Given the description of an element on the screen output the (x, y) to click on. 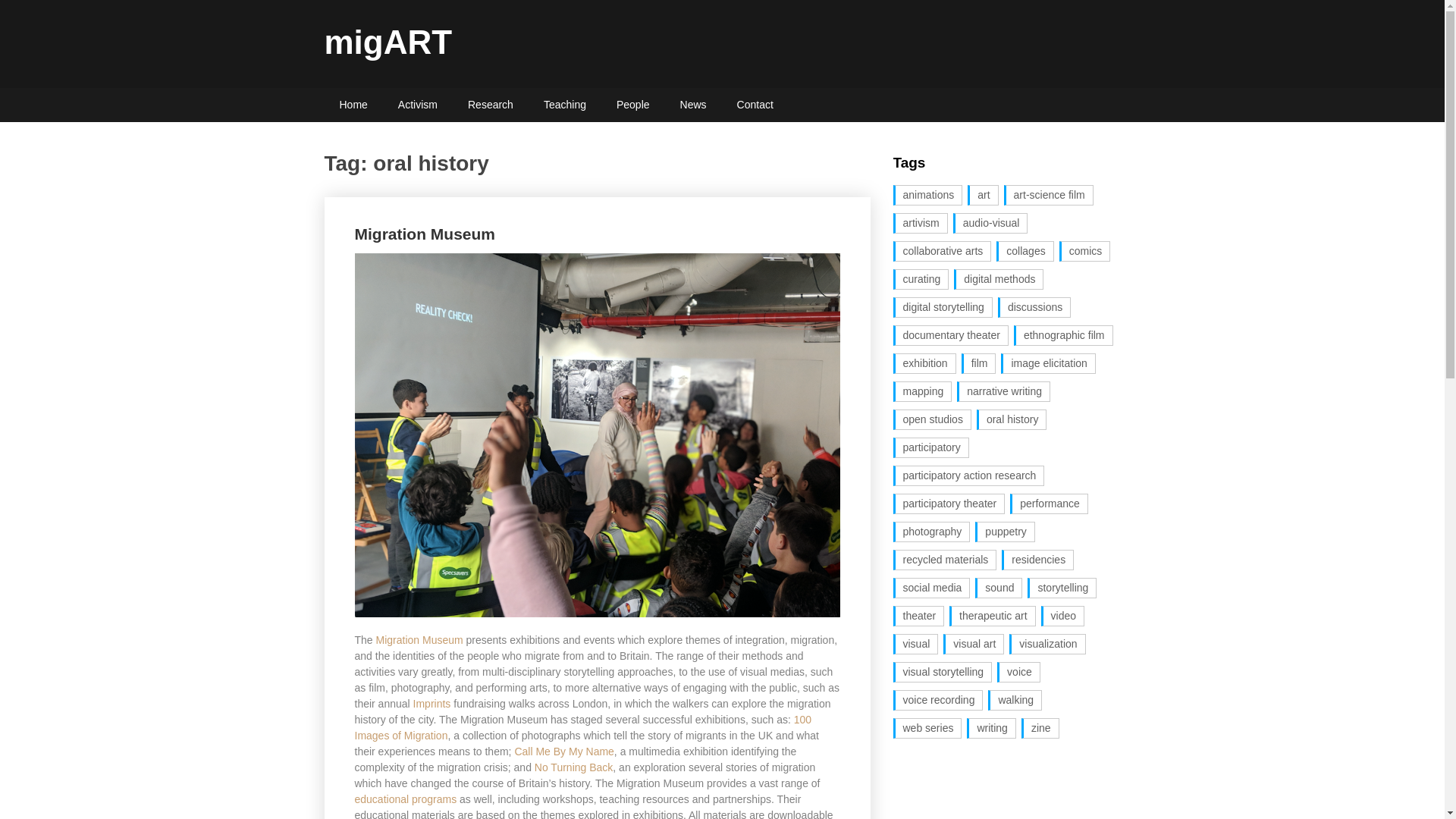
Teaching (564, 104)
migART (388, 41)
art (982, 195)
Imprints (432, 703)
100 Images of Migration (583, 727)
discussions (1033, 307)
Home (353, 104)
digital methods (998, 279)
artivism (920, 222)
News (693, 104)
curating (921, 279)
Contact (755, 104)
Research (490, 104)
comics (1084, 250)
exhibition (924, 362)
